Given the description of an element on the screen output the (x, y) to click on. 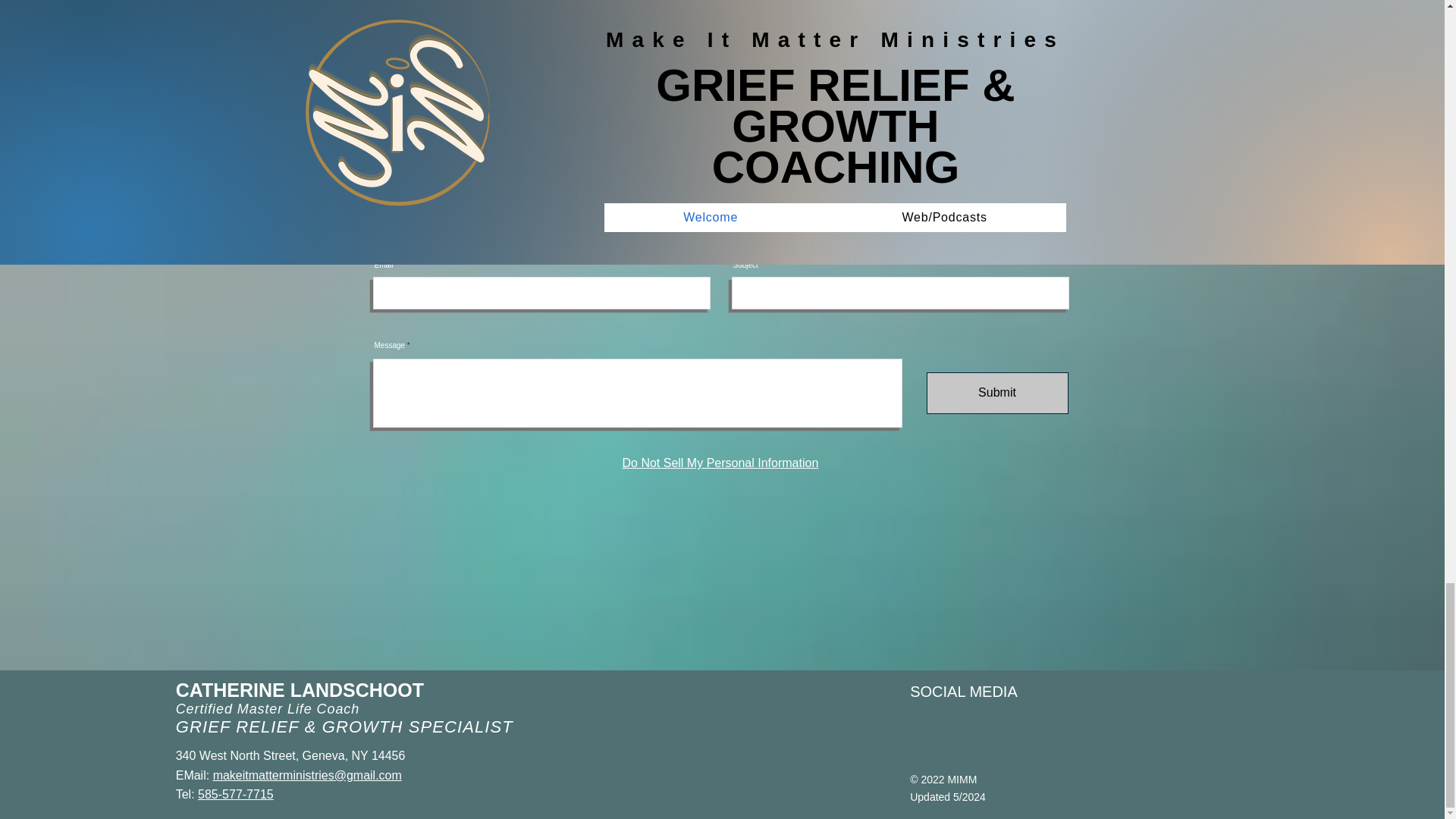
Submit (997, 393)
Do Not Sell My Personal Information (719, 463)
585-577-7715 (235, 793)
CATHERINE LANDSCHOOT (299, 690)
